Given the description of an element on the screen output the (x, y) to click on. 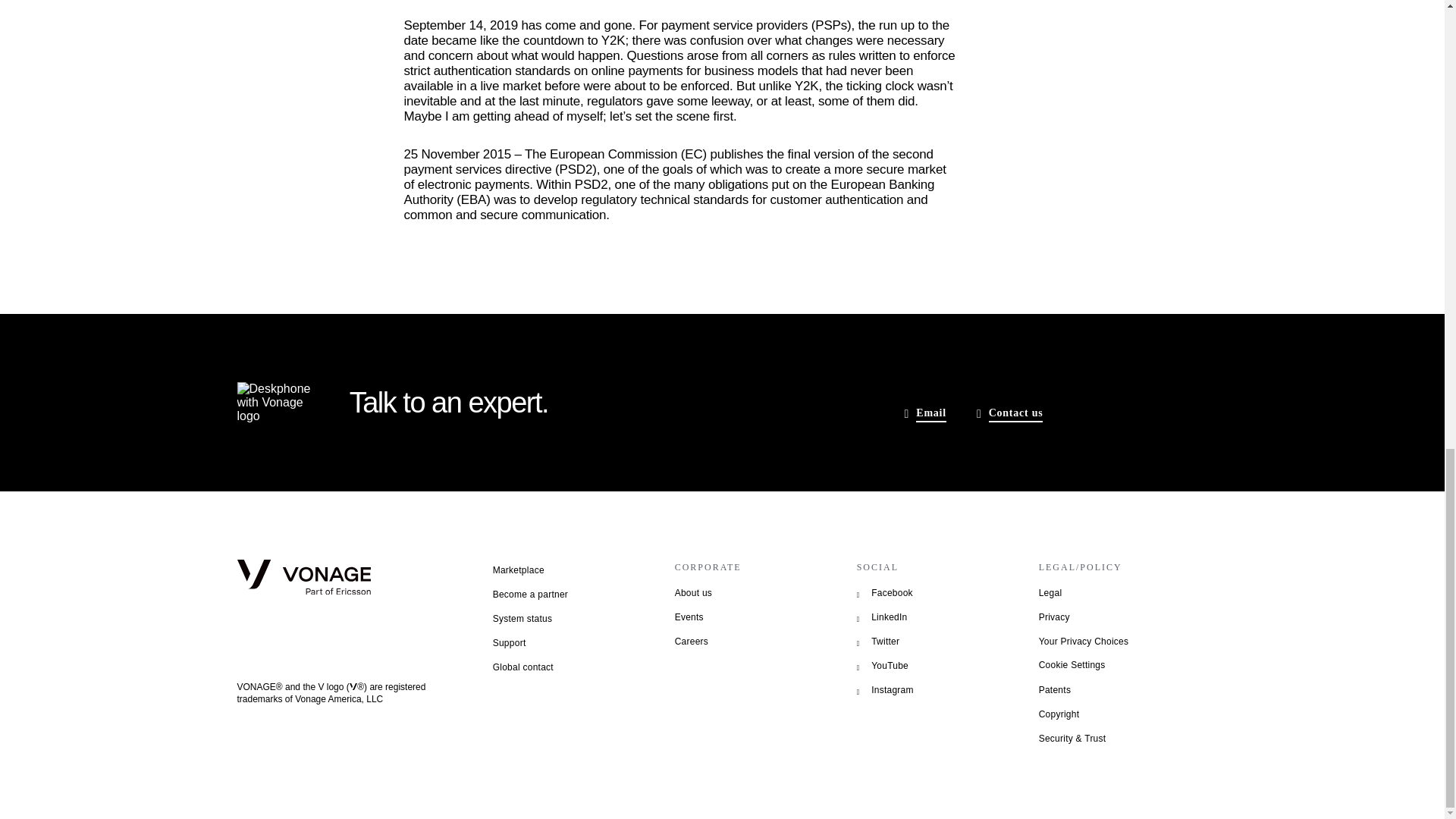
Vonage Phone (273, 402)
